Given the description of an element on the screen output the (x, y) to click on. 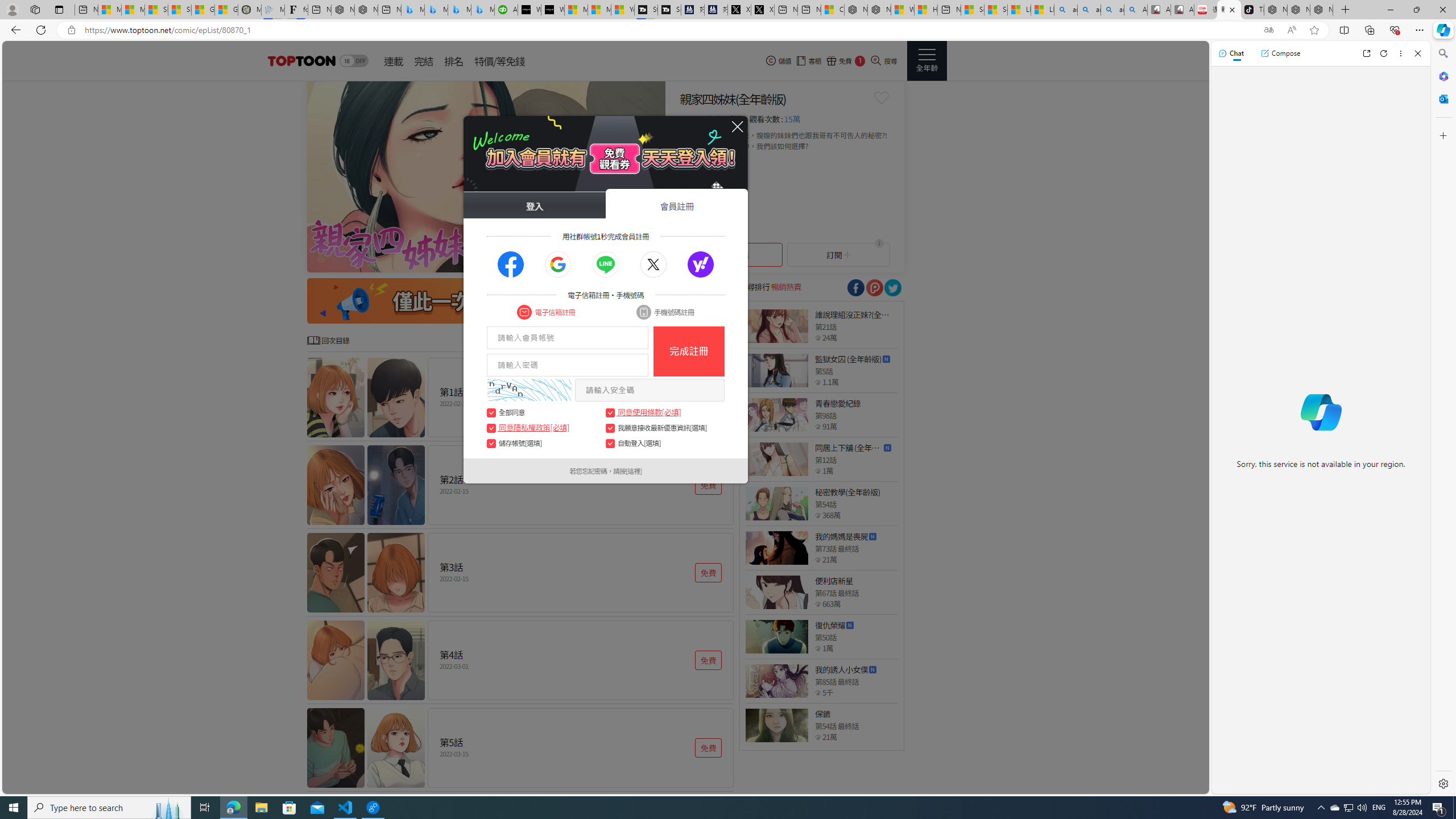
Nordace - Siena Pro 15 Essential Set (1321, 9)
Chat (1231, 52)
